Given the description of an element on the screen output the (x, y) to click on. 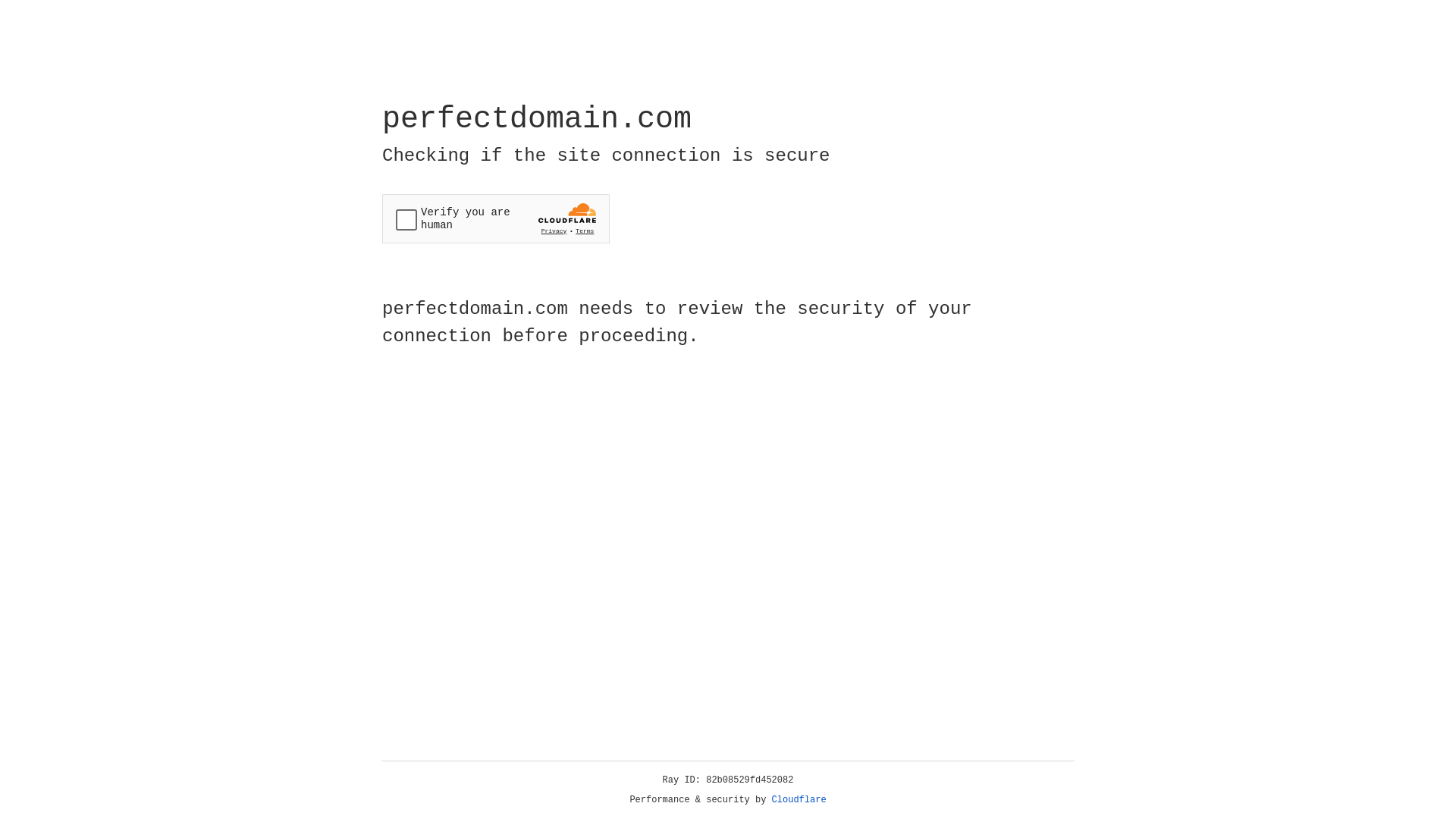
Widget containing a Cloudflare security challenge Element type: hover (495, 218)
Cloudflare Element type: text (798, 799)
